Given the description of an element on the screen output the (x, y) to click on. 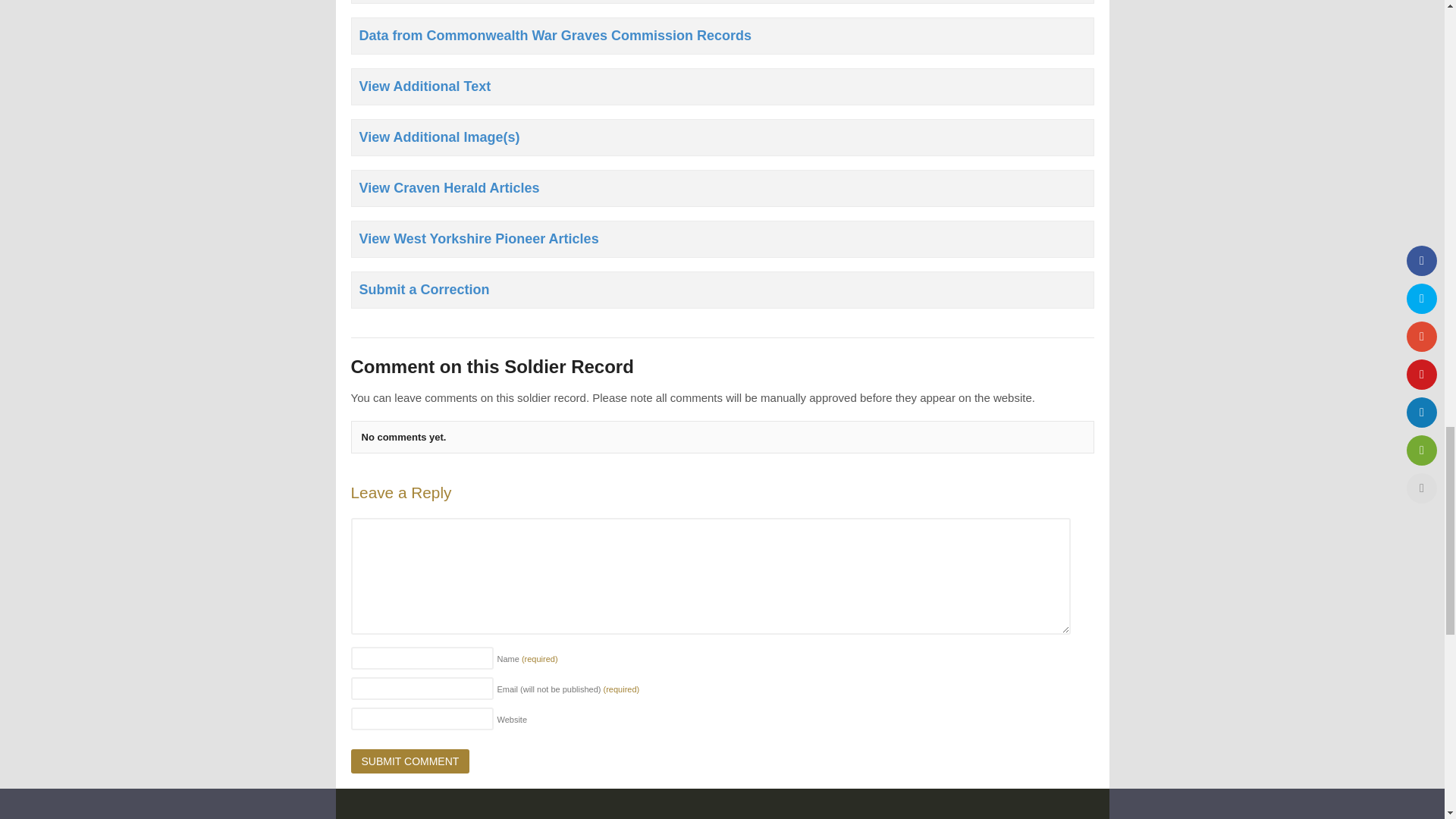
View Additional Text (722, 86)
Submit Comment (409, 761)
Data from Commonwealth War Graves Commission Records (722, 36)
